Given the description of an element on the screen output the (x, y) to click on. 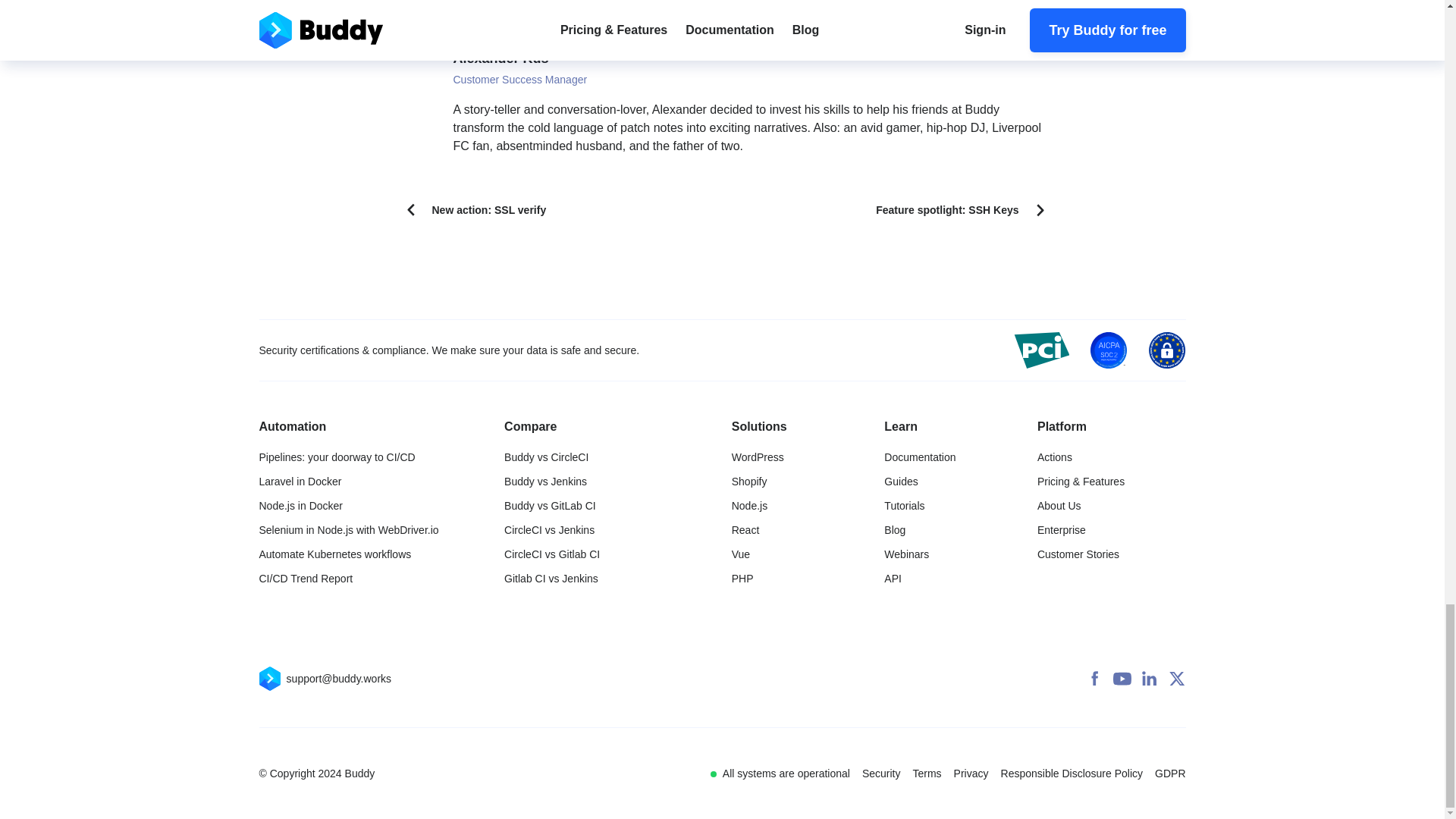
PHP (743, 577)
Shopify (749, 481)
Feature spotlight: SSH Keys (958, 209)
Vue (740, 553)
Automate Kubernetes workflows (335, 553)
Documentation (919, 456)
CircleCI vs Jenkins (548, 529)
WordPress (758, 456)
Compare (529, 426)
New action: SSL verify (477, 209)
Buddy vs Jenkins (544, 481)
Node.js in Docker (301, 504)
React (746, 529)
CircleCI vs Gitlab CI (551, 553)
Node.js (749, 504)
